Given the description of an element on the screen output the (x, y) to click on. 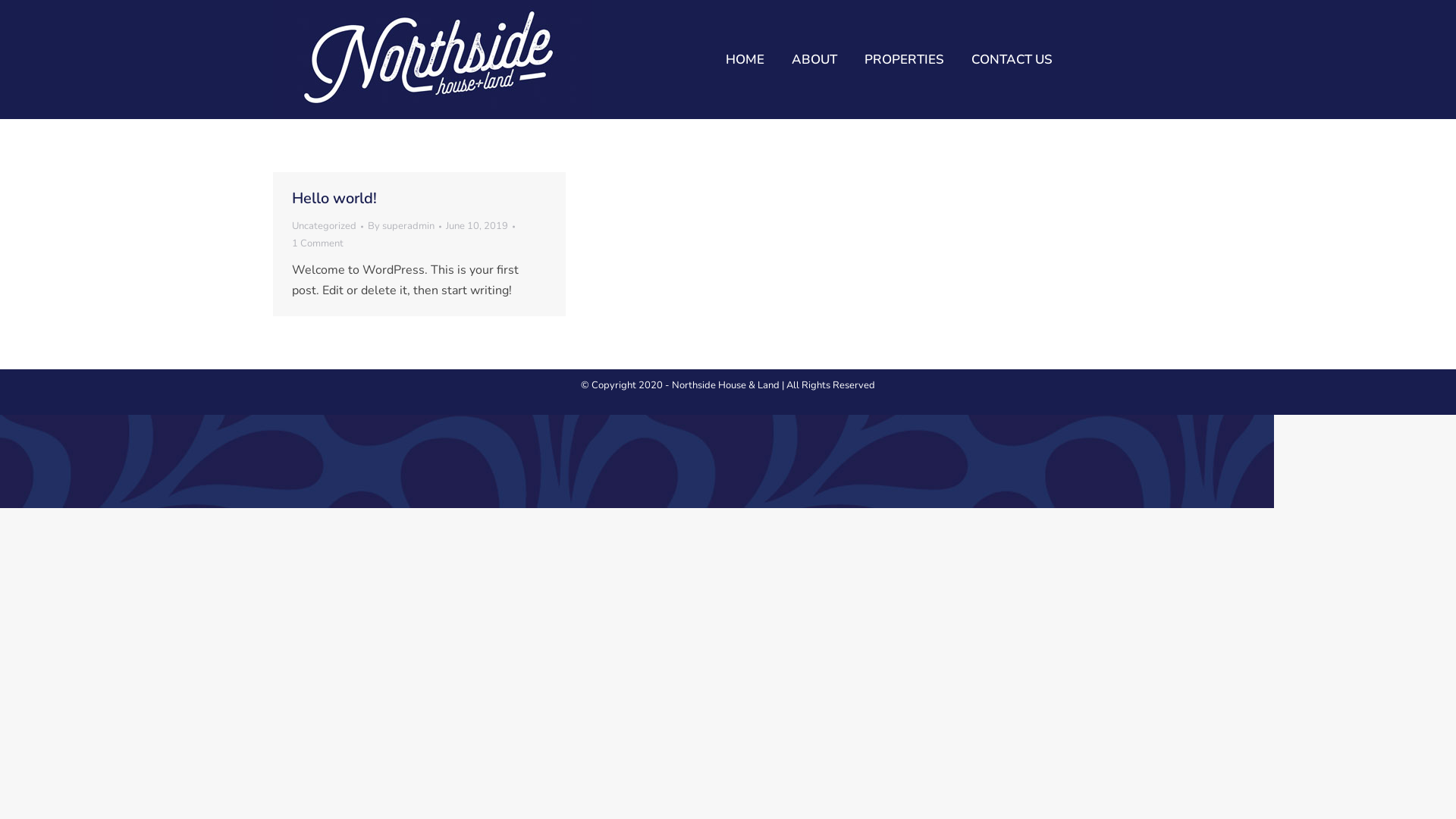
By superadmin Element type: text (404, 226)
Hello world! Element type: text (333, 198)
CONTACT US Element type: text (1011, 59)
Uncategorized Element type: text (323, 225)
HOME Element type: text (744, 59)
1 Comment Element type: text (317, 243)
ABOUT Element type: text (814, 59)
PROPERTIES Element type: text (904, 59)
June 10, 2019 Element type: text (479, 226)
